Given the description of an element on the screen output the (x, y) to click on. 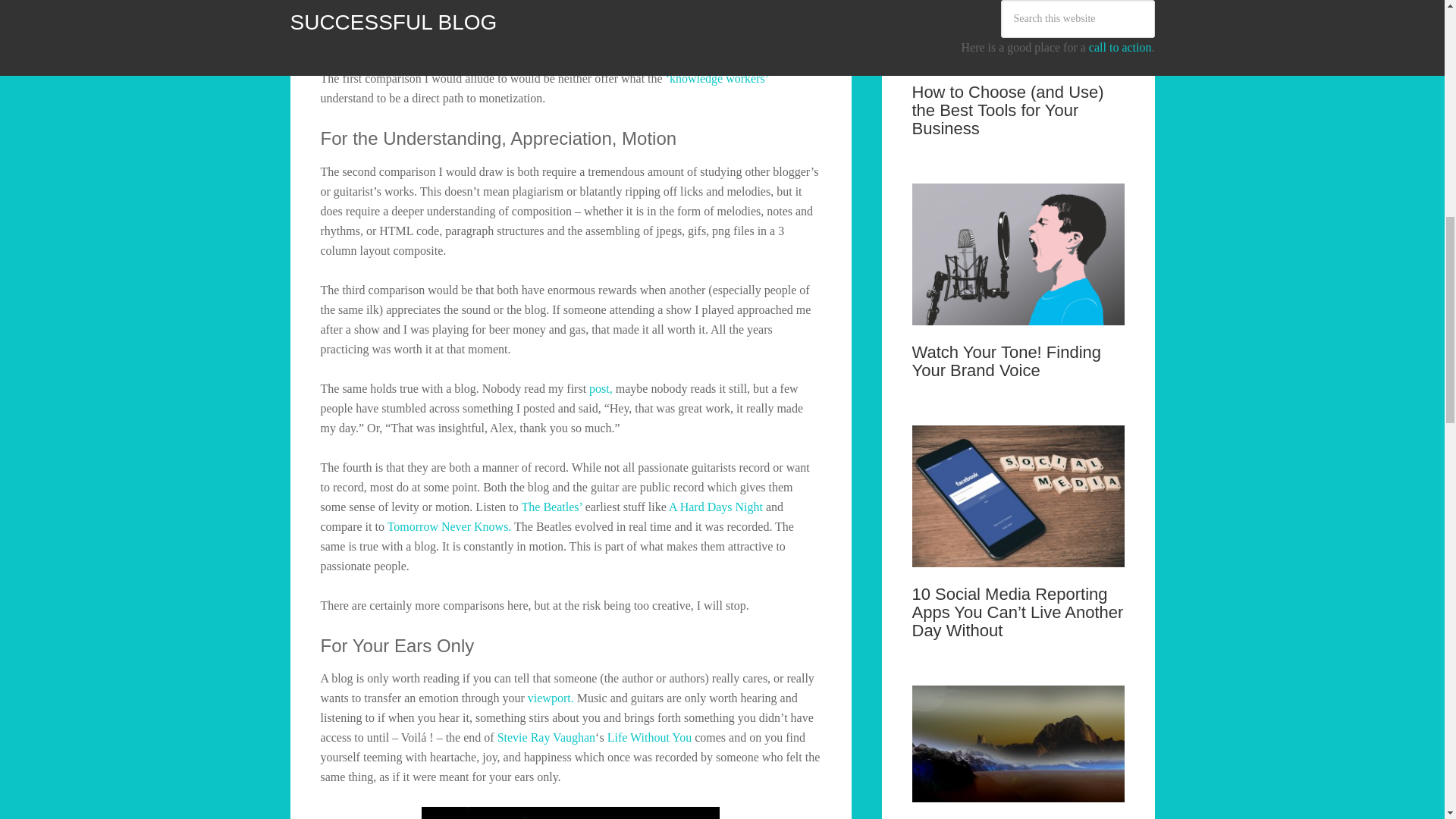
Tomorrow Never Knows. (449, 526)
Stevie Ray Vaughan (546, 737)
A Hard Days Night (715, 506)
post, (600, 388)
Life Without You (651, 737)
viewport. (550, 697)
